Given the description of an element on the screen output the (x, y) to click on. 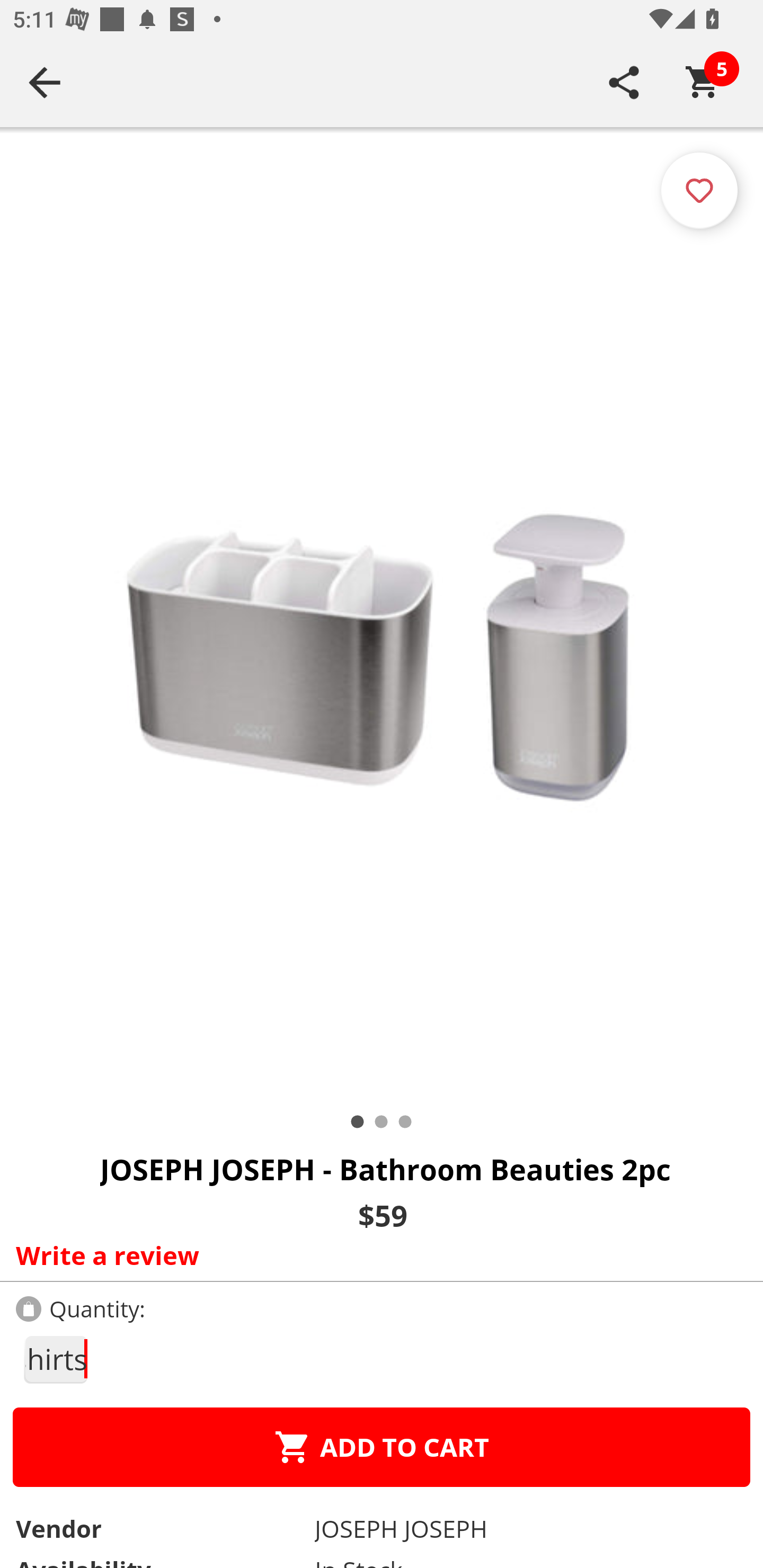
Navigate up (44, 82)
SHARE (623, 82)
Cart (703, 81)
Write a review (377, 1255)
1man shirts (55, 1358)
ADD TO CART (381, 1447)
